Given the description of an element on the screen output the (x, y) to click on. 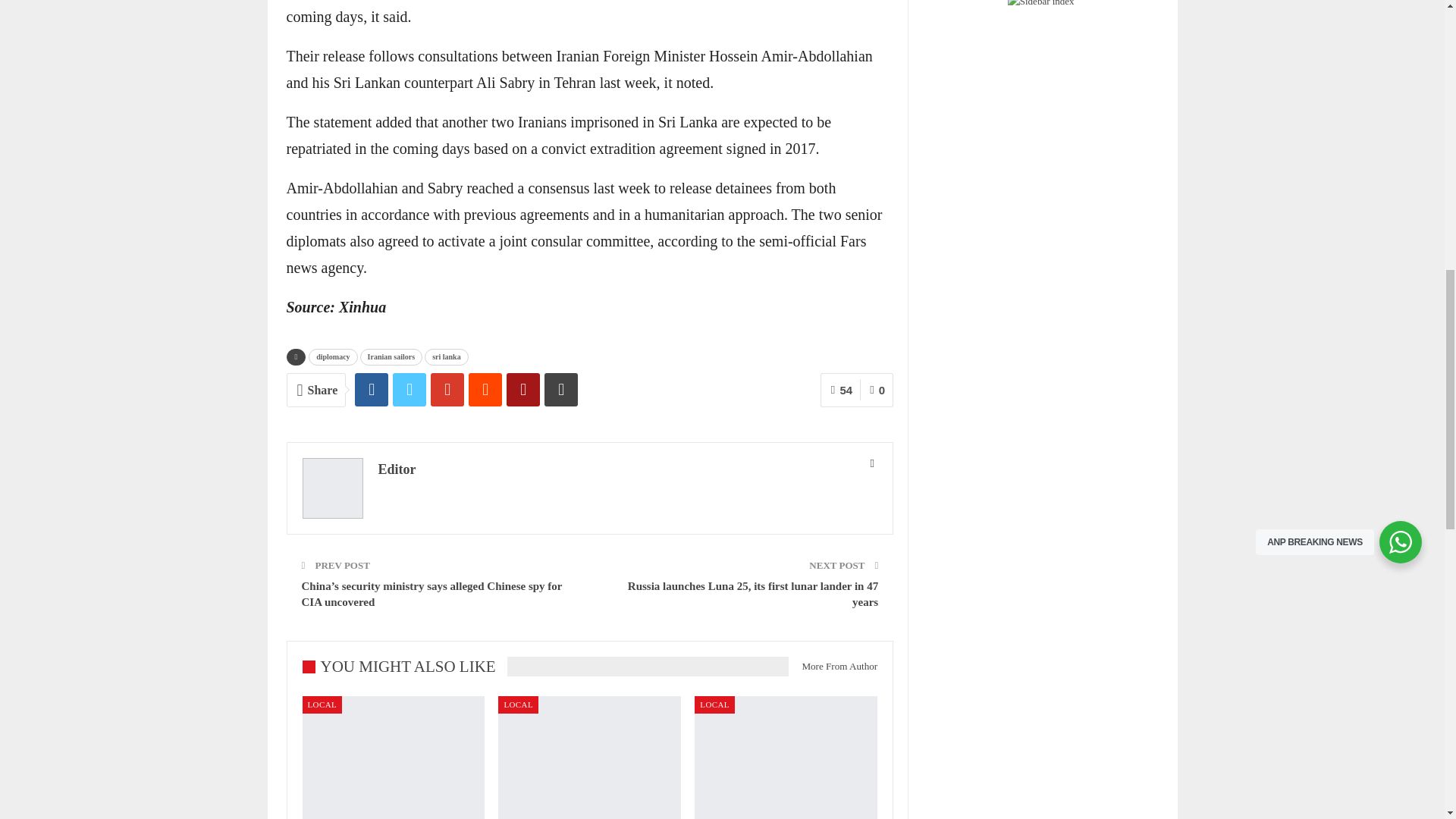
Court orders arrest of Minister Jeevan Thondaman (785, 757)
